Given the description of an element on the screen output the (x, y) to click on. 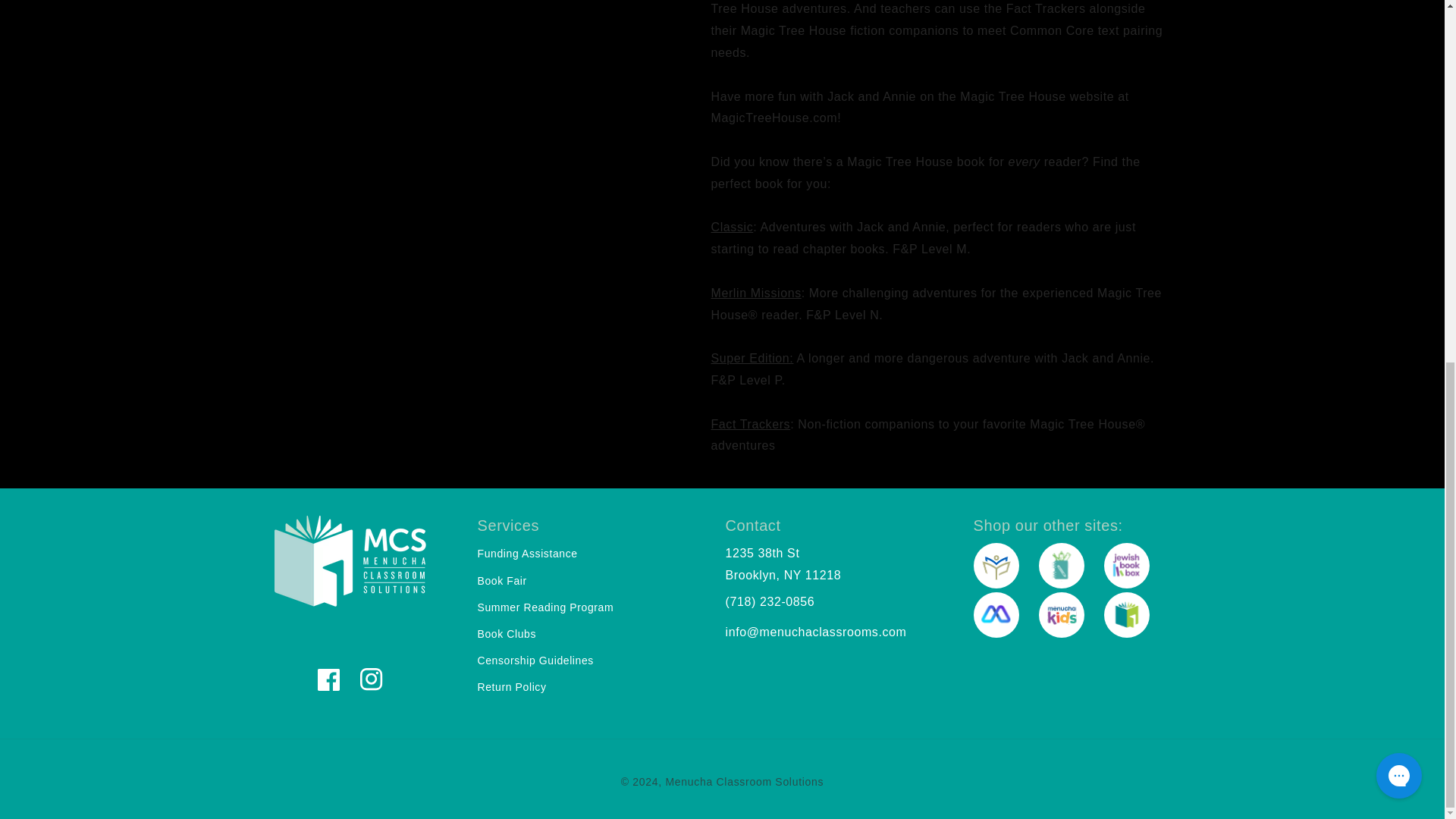
Gorgias live chat messenger (1398, 129)
